Given the description of an element on the screen output the (x, y) to click on. 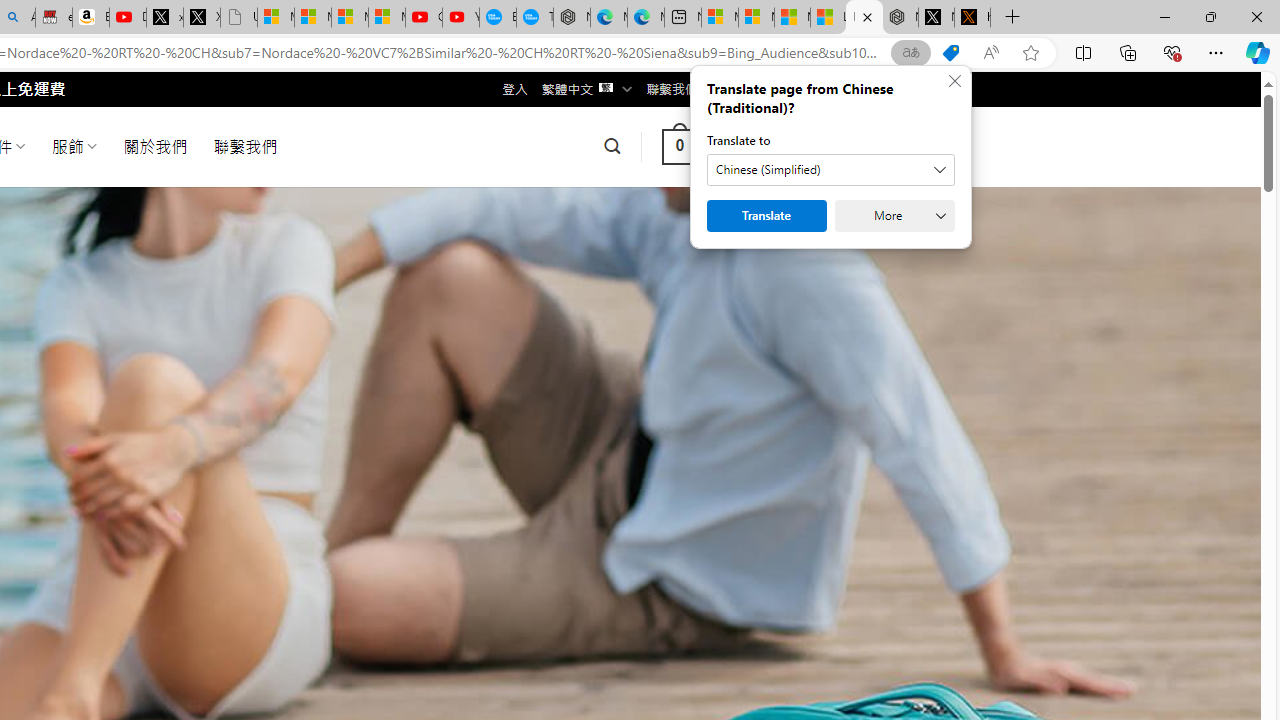
Microsoft account | Microsoft Account Privacy Settings (719, 17)
Translate to (830, 169)
Day 1: Arriving in Yemen (surreal to be here) - YouTube (127, 17)
More (894, 215)
